Given the description of an element on the screen output the (x, y) to click on. 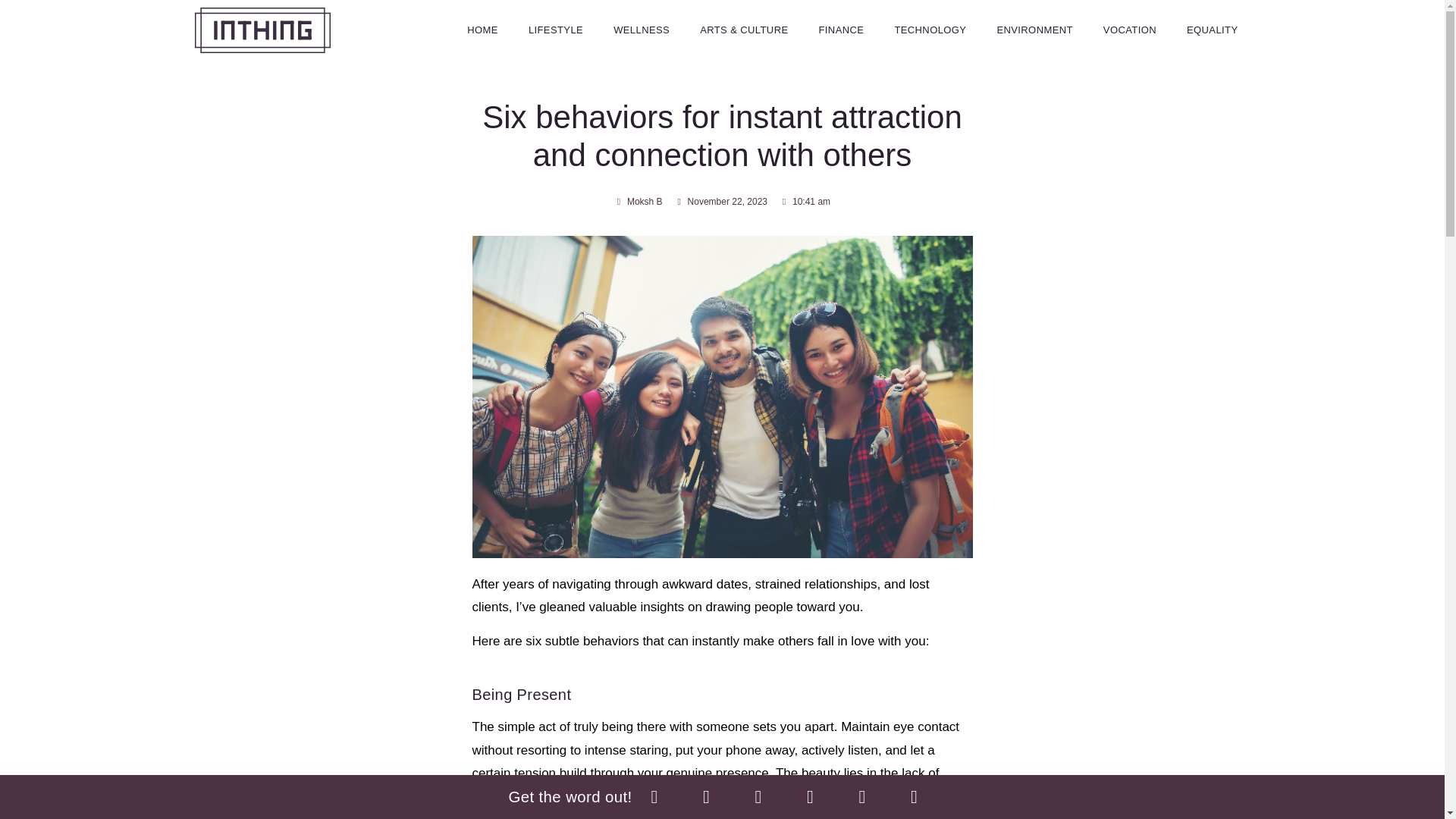
Moksh B (638, 201)
LIFESTYLE (555, 30)
EQUALITY (1212, 30)
FINANCE (841, 30)
WELLNESS (641, 30)
November 22, 2023 (721, 201)
TECHNOLOGY (930, 30)
VOCATION (1129, 30)
ENVIRONMENT (1034, 30)
HOME (482, 30)
